Given the description of an element on the screen output the (x, y) to click on. 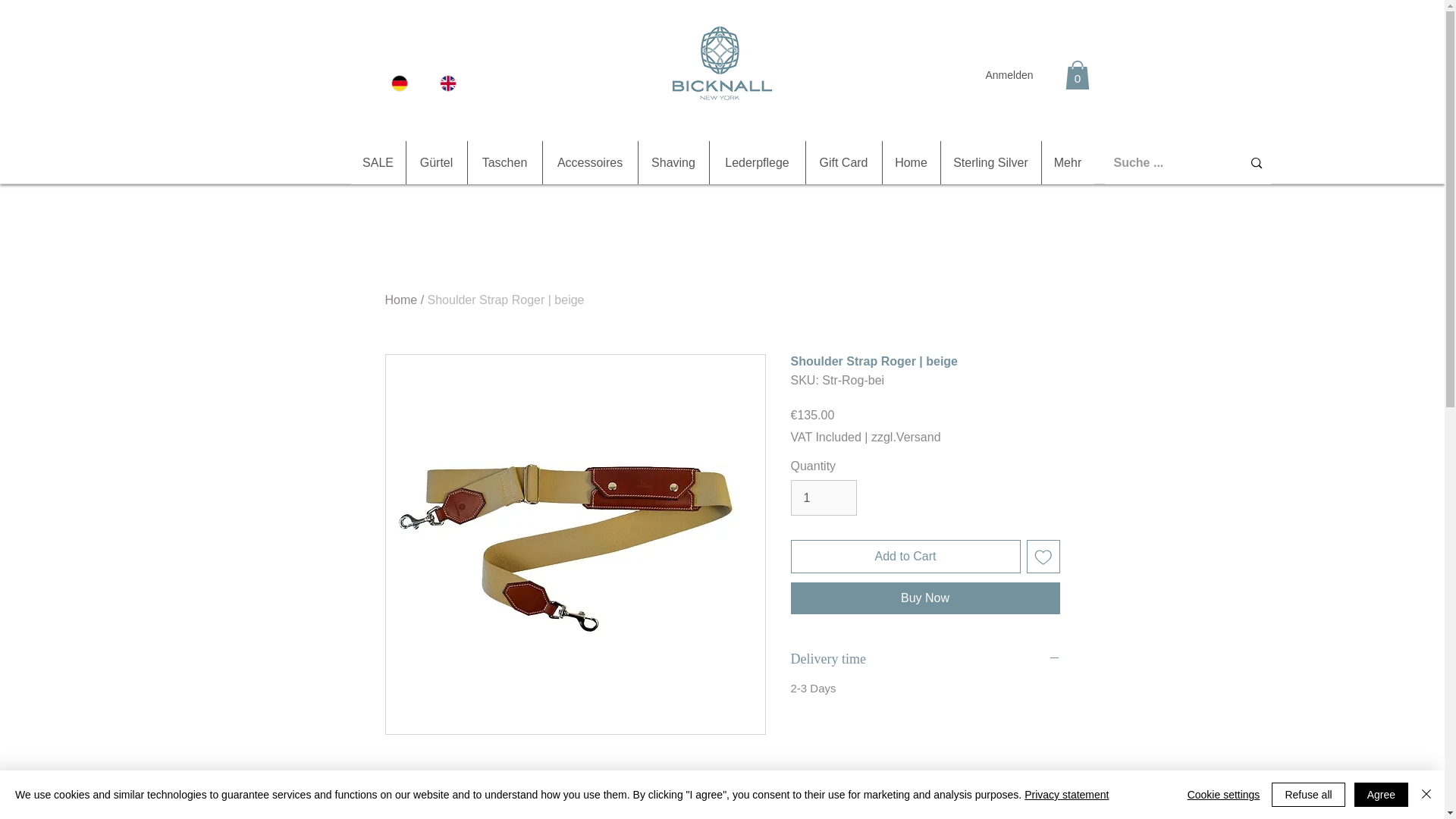
Sterling Silver (990, 162)
Gift Card (843, 162)
Anmelden (1008, 75)
Accessoires (589, 162)
Home (909, 162)
1 (823, 497)
Shaving (672, 162)
SALE (377, 162)
Taschen (504, 162)
Lederpflege (756, 162)
Logo Bicknall (721, 60)
